Given the description of an element on the screen output the (x, y) to click on. 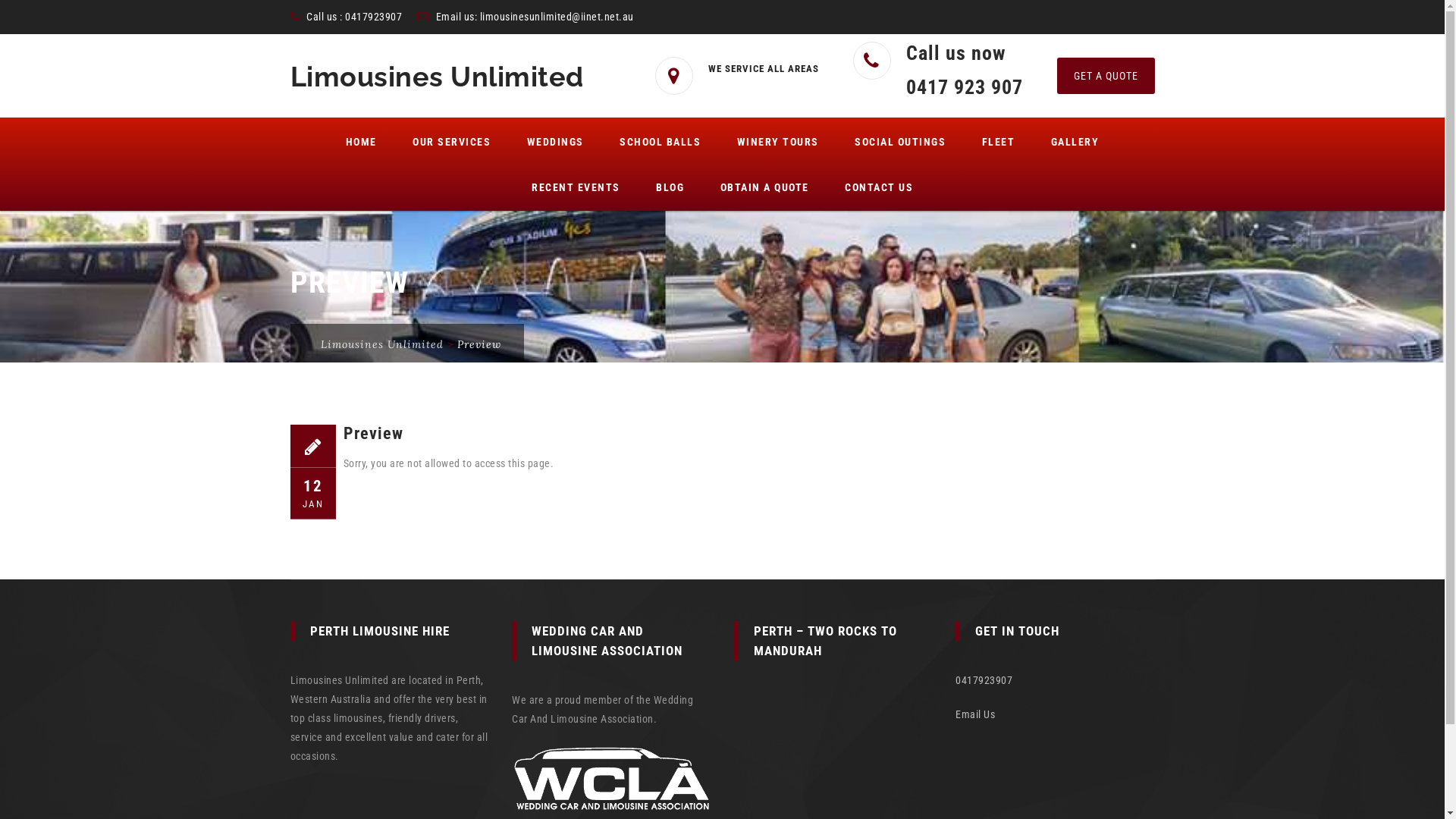
OBTAIN A QUOTE Element type: text (764, 186)
WEDDINGS Element type: text (555, 140)
GET A QUOTE Element type: text (1105, 75)
0417923907 Element type: text (983, 680)
FLEET Element type: text (998, 140)
HOME Element type: text (361, 140)
OUR SERVICES Element type: text (451, 140)
BLOG Element type: text (669, 186)
limousinesunlimited@iinet.net.au Element type: text (556, 16)
0417 923 907 Element type: text (963, 86)
CONTACT US Element type: text (878, 186)
WINERY TOURS Element type: text (777, 140)
RECENT EVENTS Element type: text (575, 186)
Email Us Element type: text (974, 714)
SOCIAL OUTINGS Element type: text (899, 140)
0417923907 Element type: text (373, 16)
Limousines Unlimited Element type: text (381, 344)
Skip to content Element type: text (289, 116)
SCHOOL BALLS Element type: text (659, 140)
Limousines Unlimited Element type: text (436, 76)
GALLERY Element type: text (1075, 140)
